Given the description of an element on the screen output the (x, y) to click on. 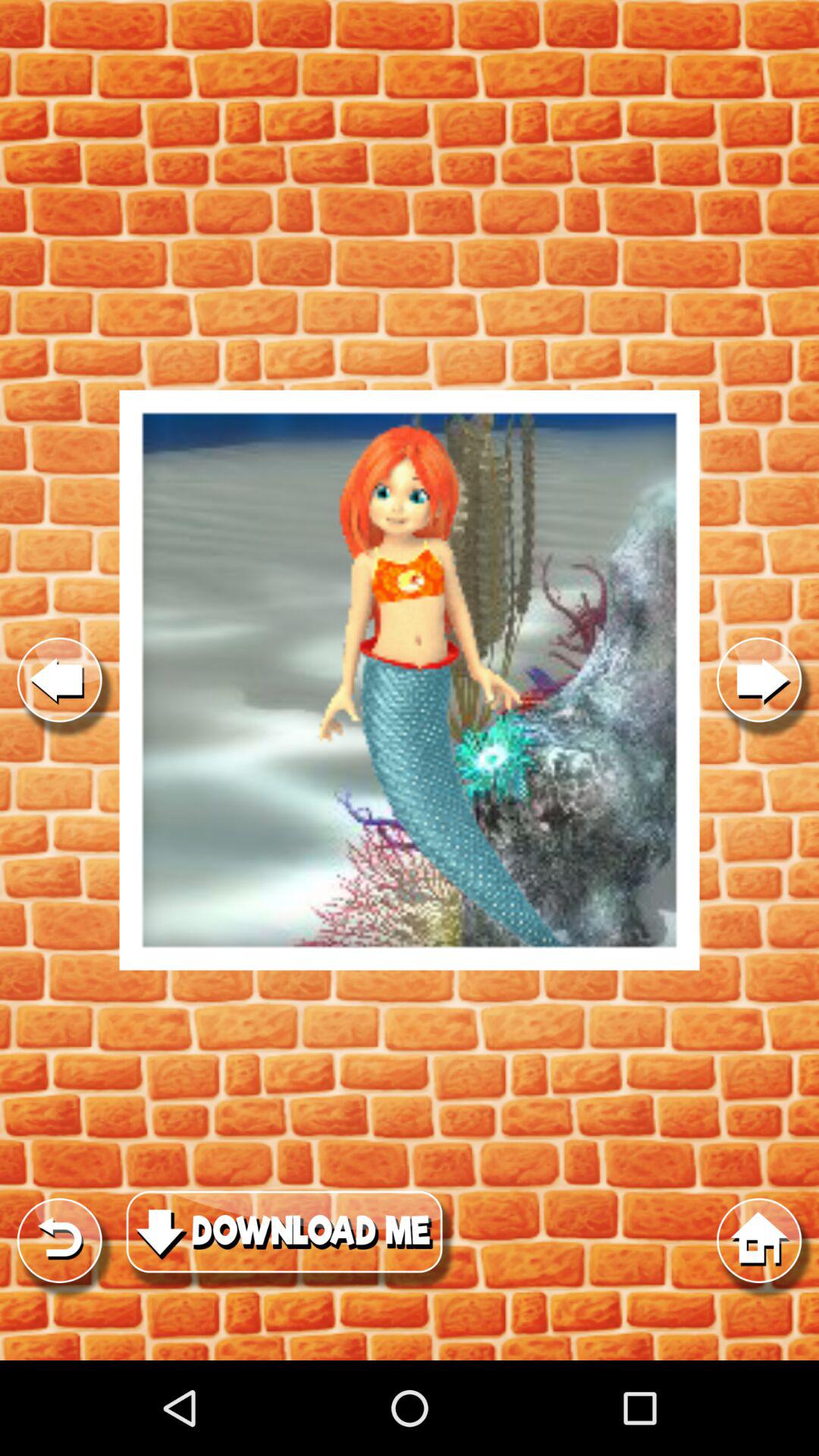
previous option (59, 679)
